Given the description of an element on the screen output the (x, y) to click on. 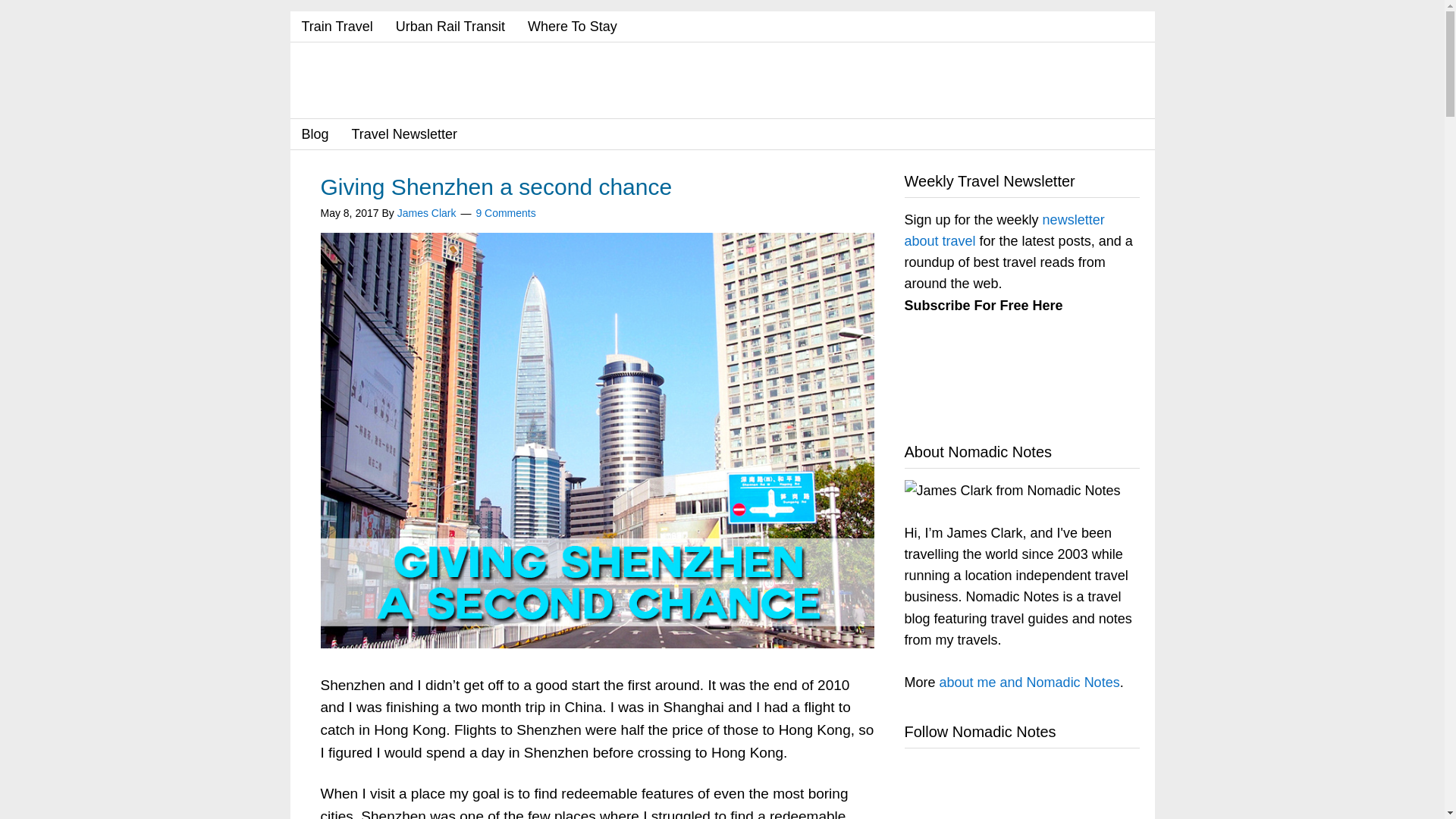
Urban Rail Transit (450, 26)
Train Travel (336, 26)
9 Comments (505, 212)
James Clark (427, 212)
Nomadic Notes (425, 81)
Blog (314, 133)
Where To Stay (572, 26)
Travel Newsletter (404, 133)
